Given the description of an element on the screen output the (x, y) to click on. 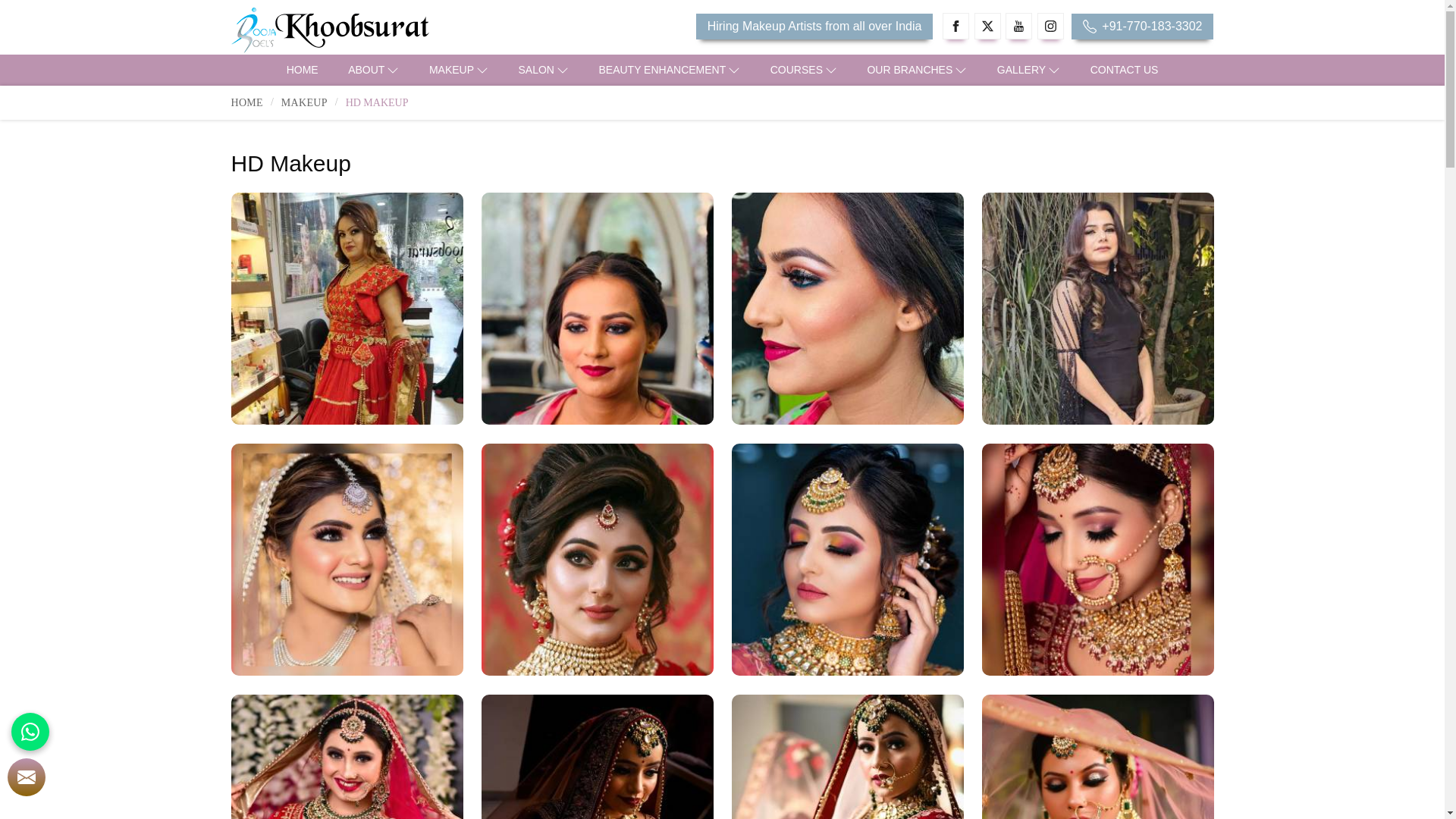
khoobsurat (329, 30)
khoobsurat (388, 30)
Makeup (458, 69)
ABOUT (373, 69)
Facebook (955, 26)
Hiring Makeup Artists from all over India (814, 25)
Youtube (1019, 26)
MAKEUP (458, 69)
HOME (302, 69)
Hiring Makeup Artists from all over India (814, 25)
SALON (543, 69)
Home (302, 69)
About (373, 69)
Instagram (1050, 26)
Twitter (987, 26)
